Given the description of an element on the screen output the (x, y) to click on. 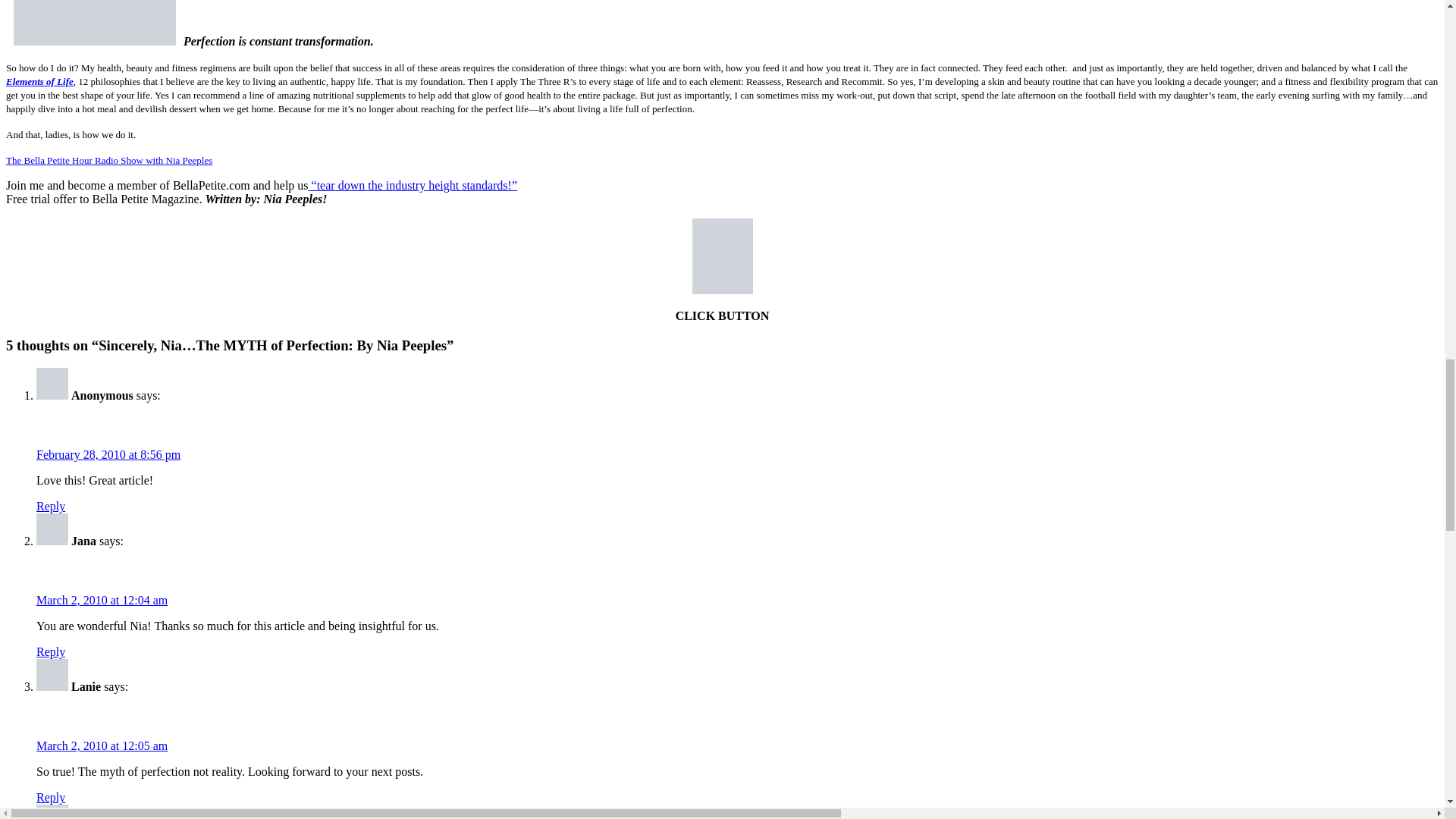
The Bella Petite Hour Radio Show with Nia Peeples (108, 160)
Elements of Life (39, 81)
